Given the description of an element on the screen output the (x, y) to click on. 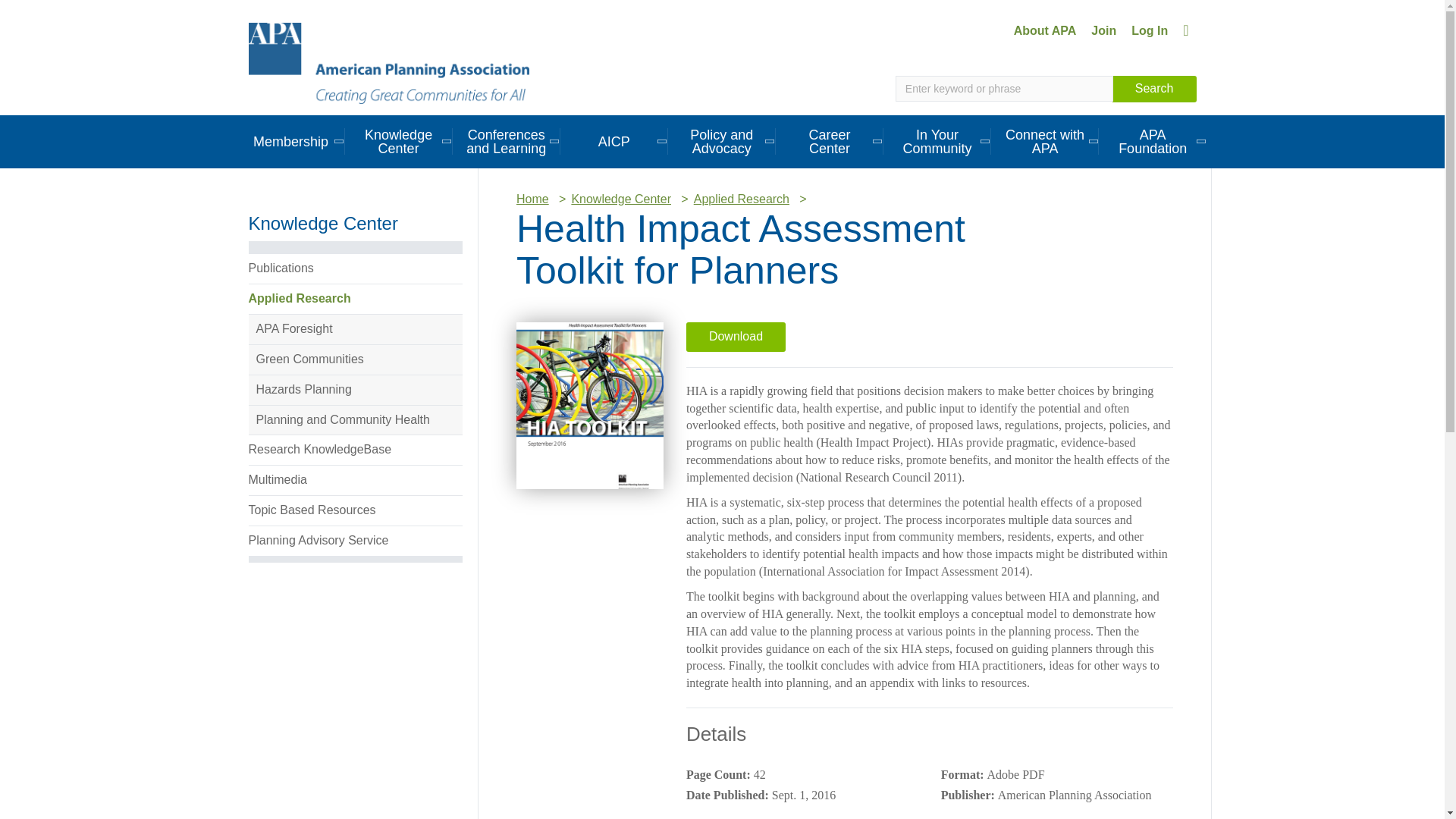
Knowledge Center (398, 141)
Connect with APA (1045, 141)
About APA (1045, 30)
Search (1154, 89)
APA Home (388, 62)
Conferences and Learning (506, 141)
Join (1103, 30)
Membership (289, 141)
Join (1103, 30)
In Your Community (937, 141)
